Given the description of an element on the screen output the (x, y) to click on. 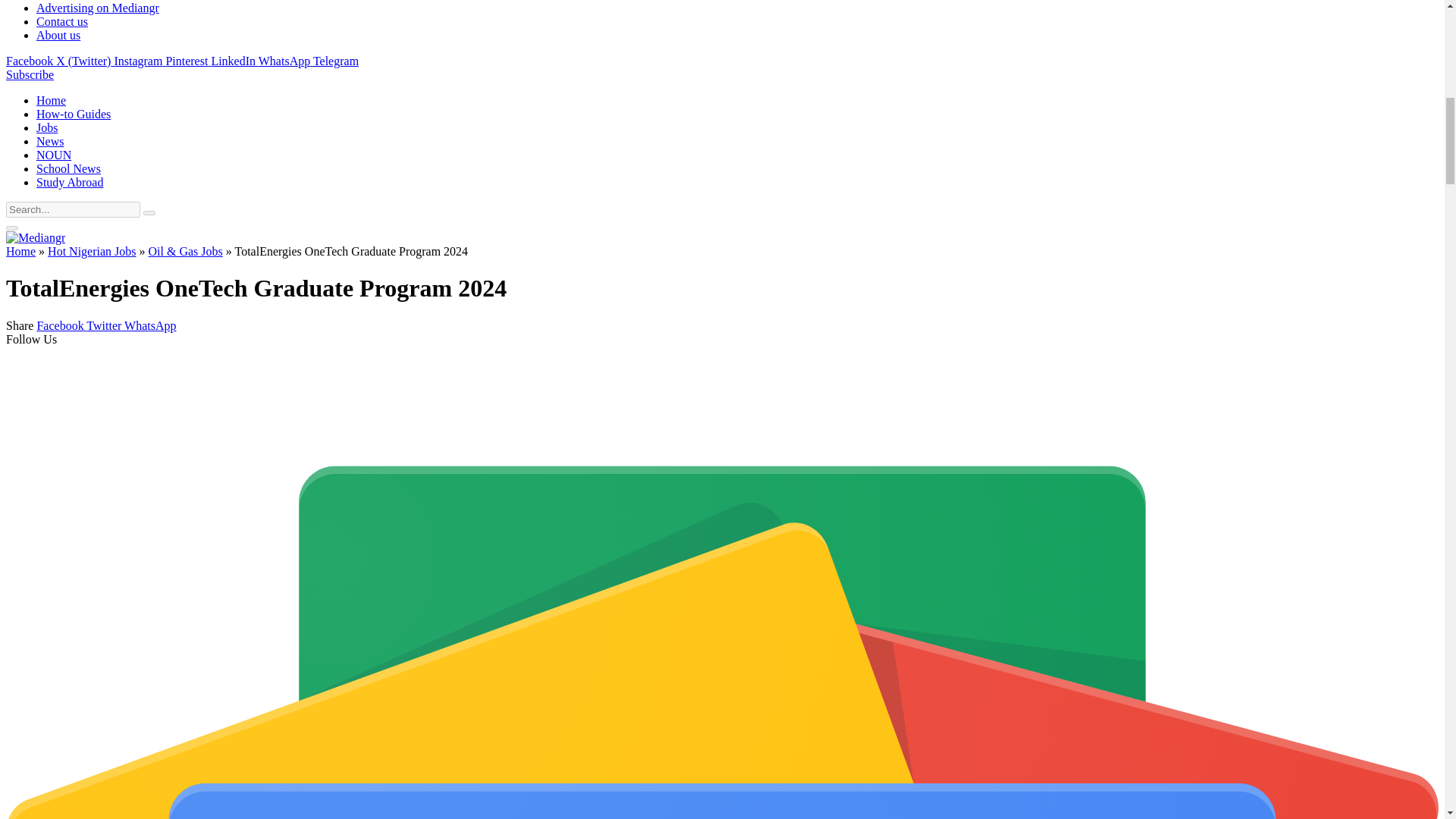
Hot Nigerian Jobs Today (47, 127)
Share on Facebook (60, 325)
Share on WhatsApp (149, 325)
Mediangr (35, 237)
